Given the description of an element on the screen output the (x, y) to click on. 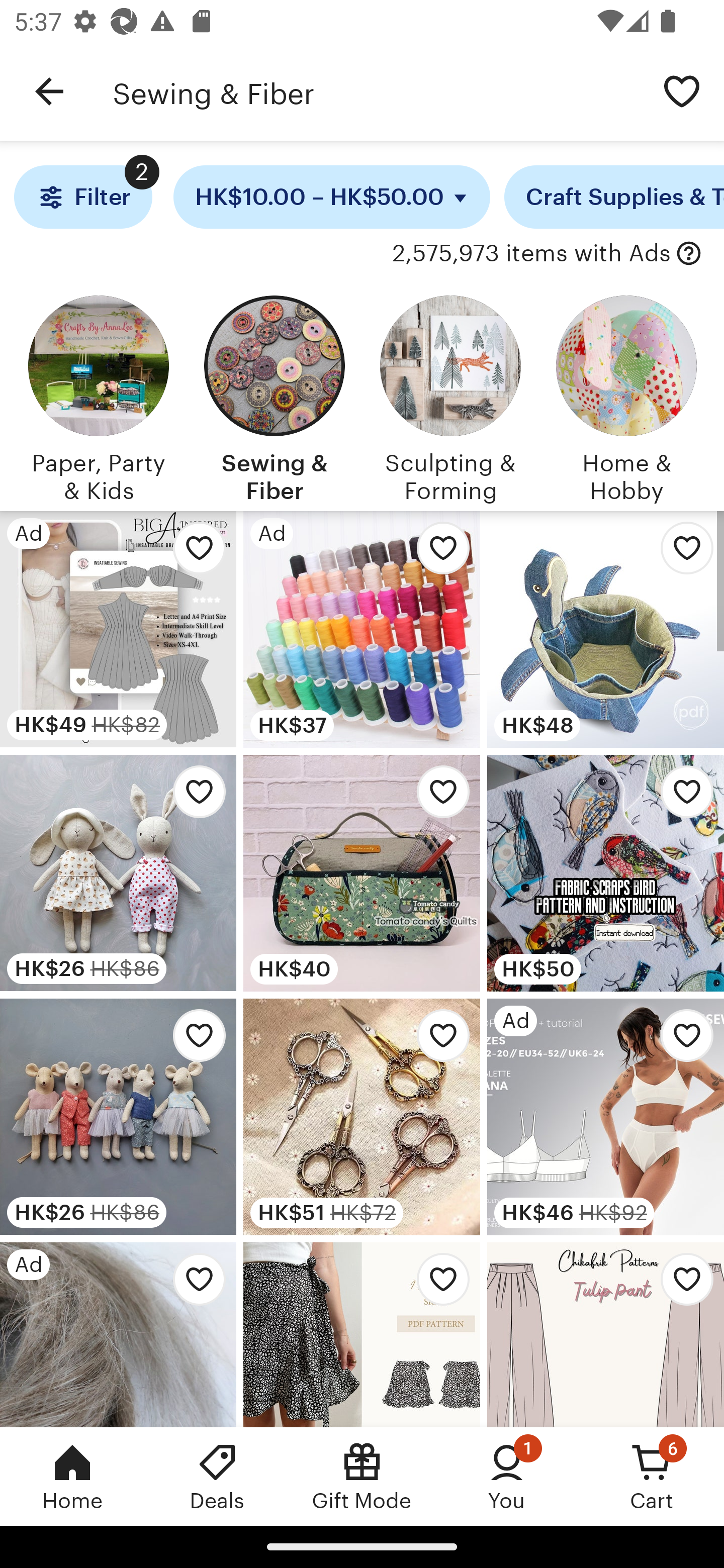
Navigate up (49, 91)
Save search (681, 90)
Sewing & Fiber (375, 91)
Filter (82, 197)
HK$10.00 – HK$50.00 (331, 197)
Craft Supplies & Tools (614, 197)
2,575,973 items with Ads (531, 253)
with Ads (688, 253)
Paper, Party & Kids (97, 395)
Sewing & Fiber (273, 395)
Sculpting & Forming (449, 395)
Home & Hobby (625, 395)
Deals (216, 1475)
Gift Mode (361, 1475)
You, 1 new notification You (506, 1475)
Cart, 6 new notifications Cart (651, 1475)
